Given the description of an element on the screen output the (x, y) to click on. 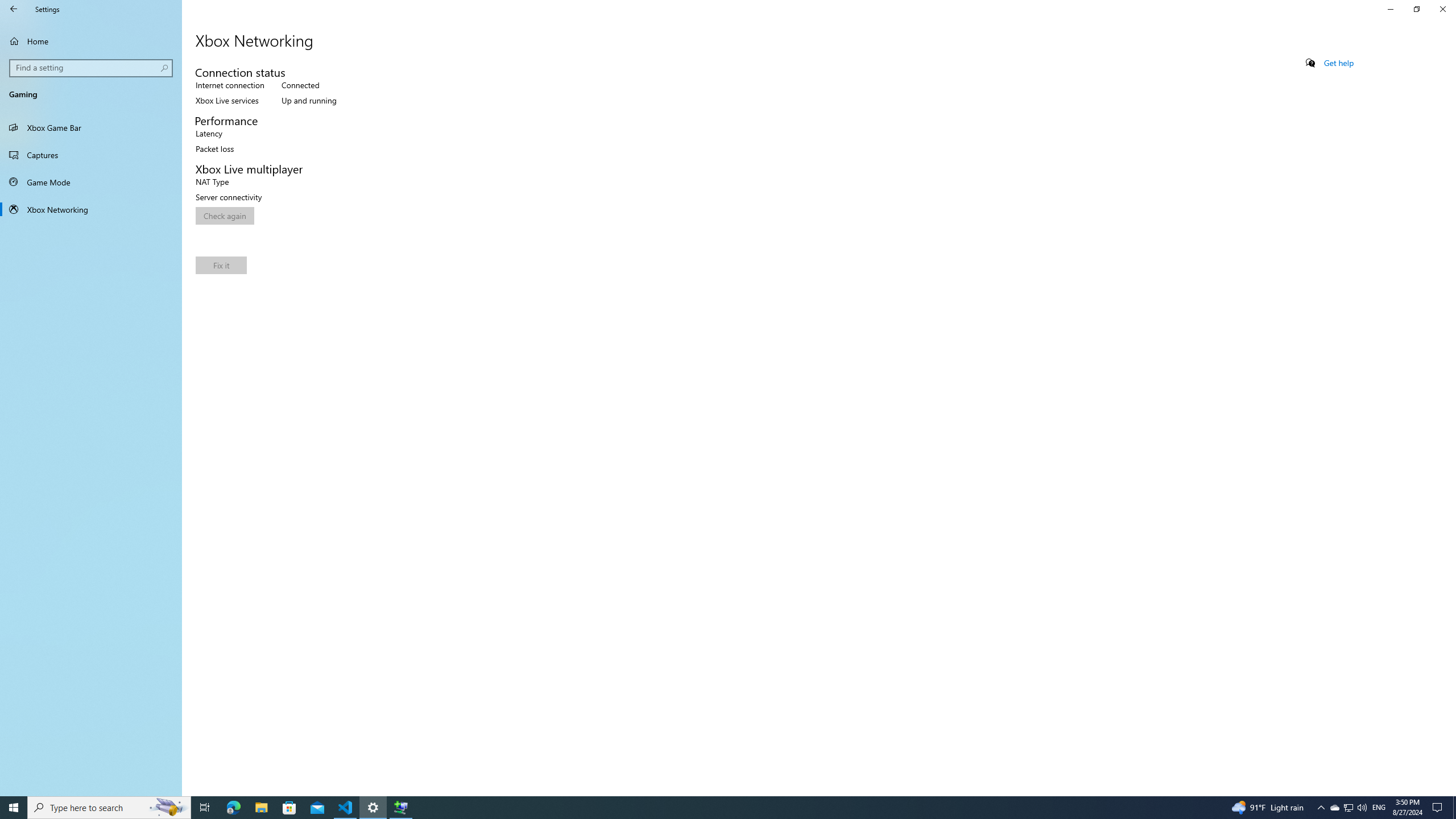
Restore Settings (1416, 9)
Minimize Settings (1390, 9)
Xbox Networking (91, 208)
